Given the description of an element on the screen output the (x, y) to click on. 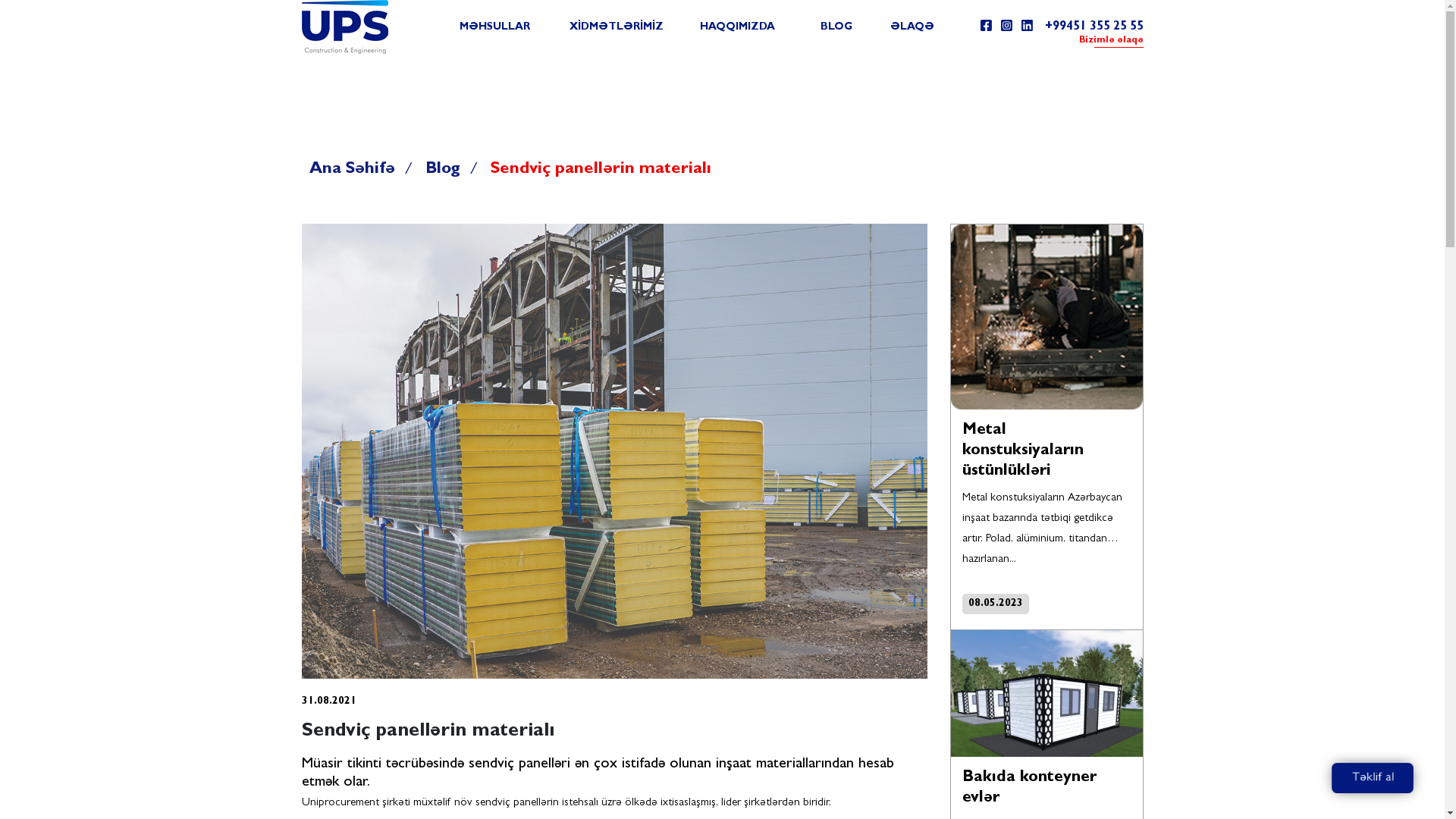
+99451 355 25 55 Element type: text (1093, 27)
Blog Element type: text (443, 170)
BLOG Element type: text (835, 27)
HAQQIMIZDA Element type: text (737, 27)
